Given the description of an element on the screen output the (x, y) to click on. 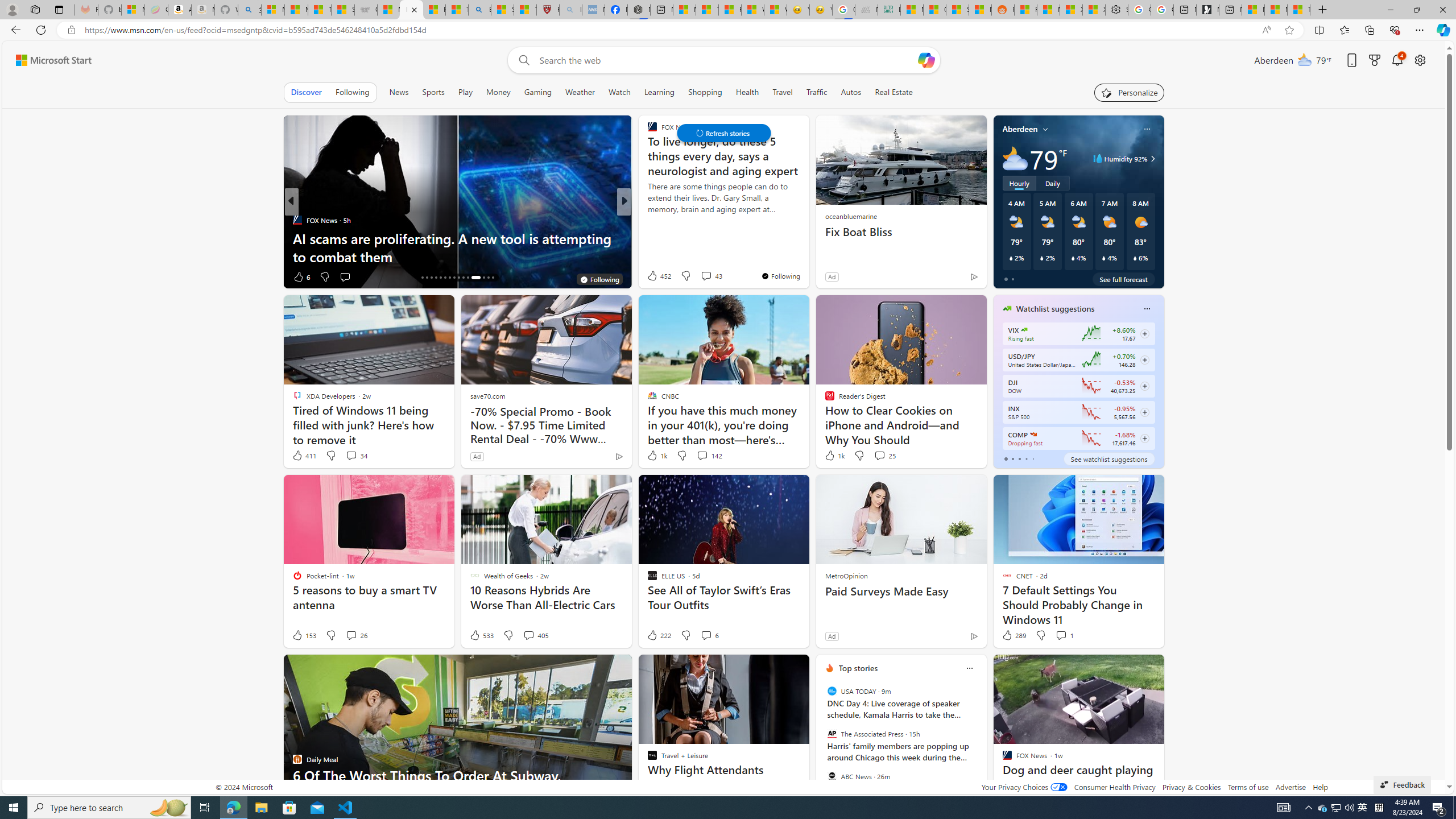
save70.com (487, 395)
AutomationID: tab-21 (444, 277)
AutomationID: tab-24 (458, 277)
Class: weather-current-precipitation-glyph (1134, 257)
Aberdeen (1019, 128)
NASDAQ (1032, 434)
